Given the description of an element on the screen output the (x, y) to click on. 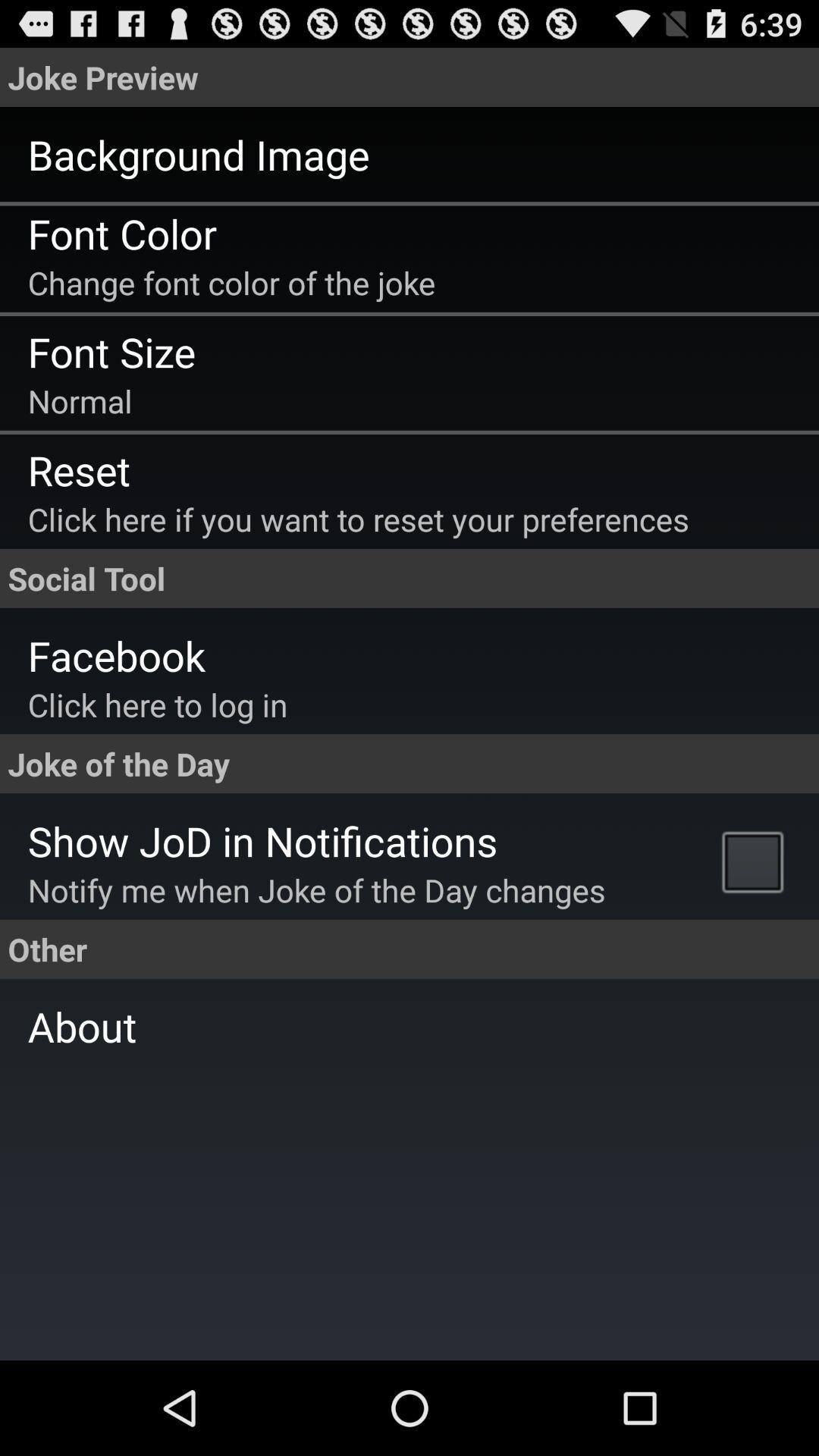
turn on the app next to the notify me when app (756, 860)
